Given the description of an element on the screen output the (x, y) to click on. 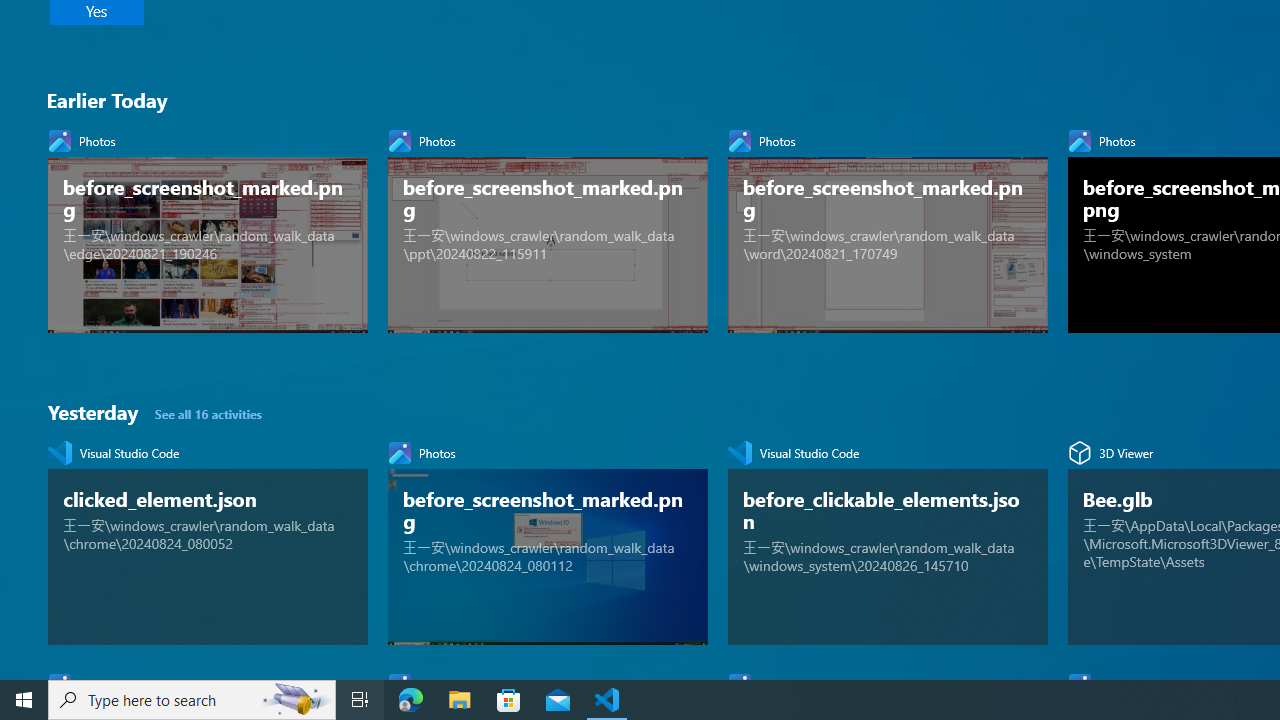
Visual Studio Code, before_clickable_elements.json (888, 538)
See all 16 activities (209, 413)
Photos, before_screenshot_marked.png (547, 538)
Visual Studio Code, clicked_element.json (208, 538)
